Given the description of an element on the screen output the (x, y) to click on. 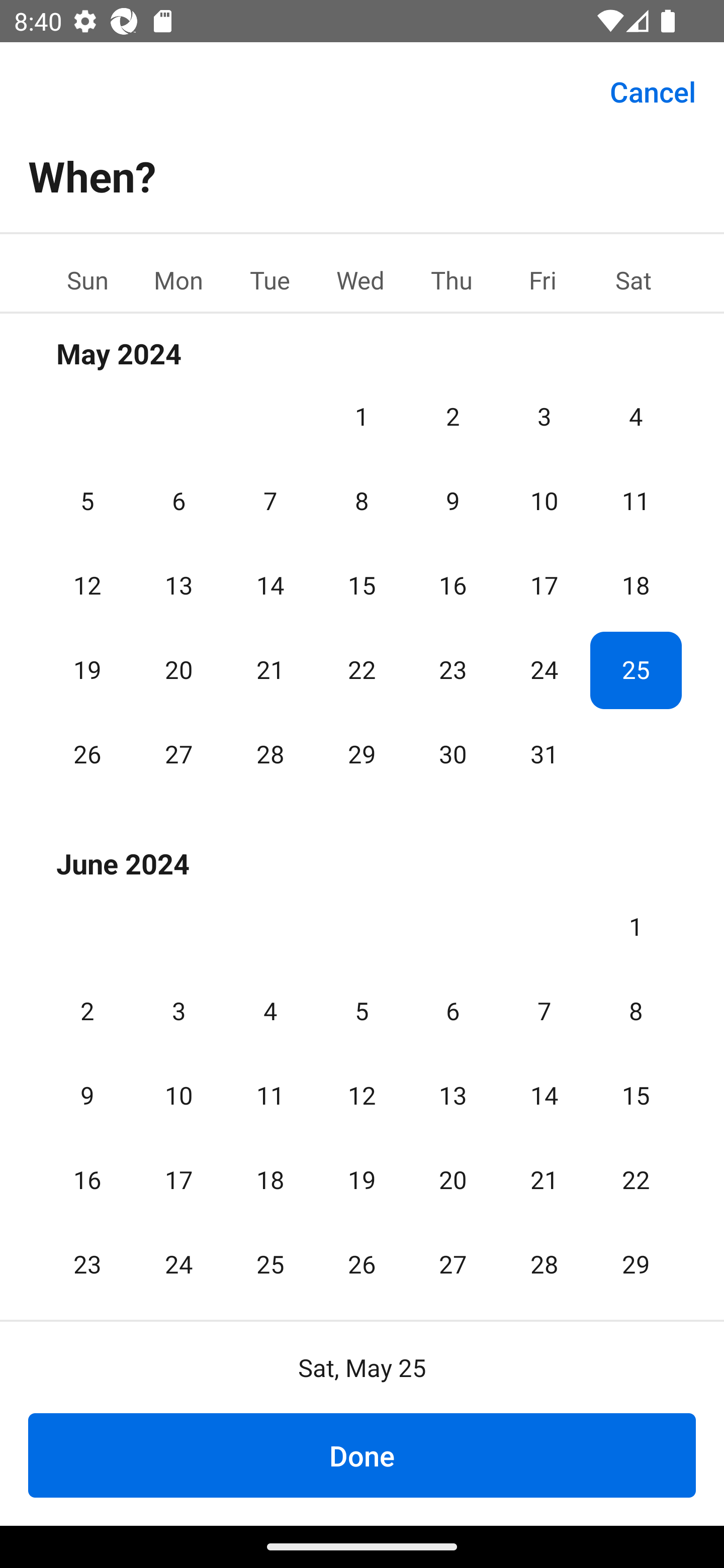
Cancel (652, 90)
Done (361, 1454)
